Given the description of an element on the screen output the (x, y) to click on. 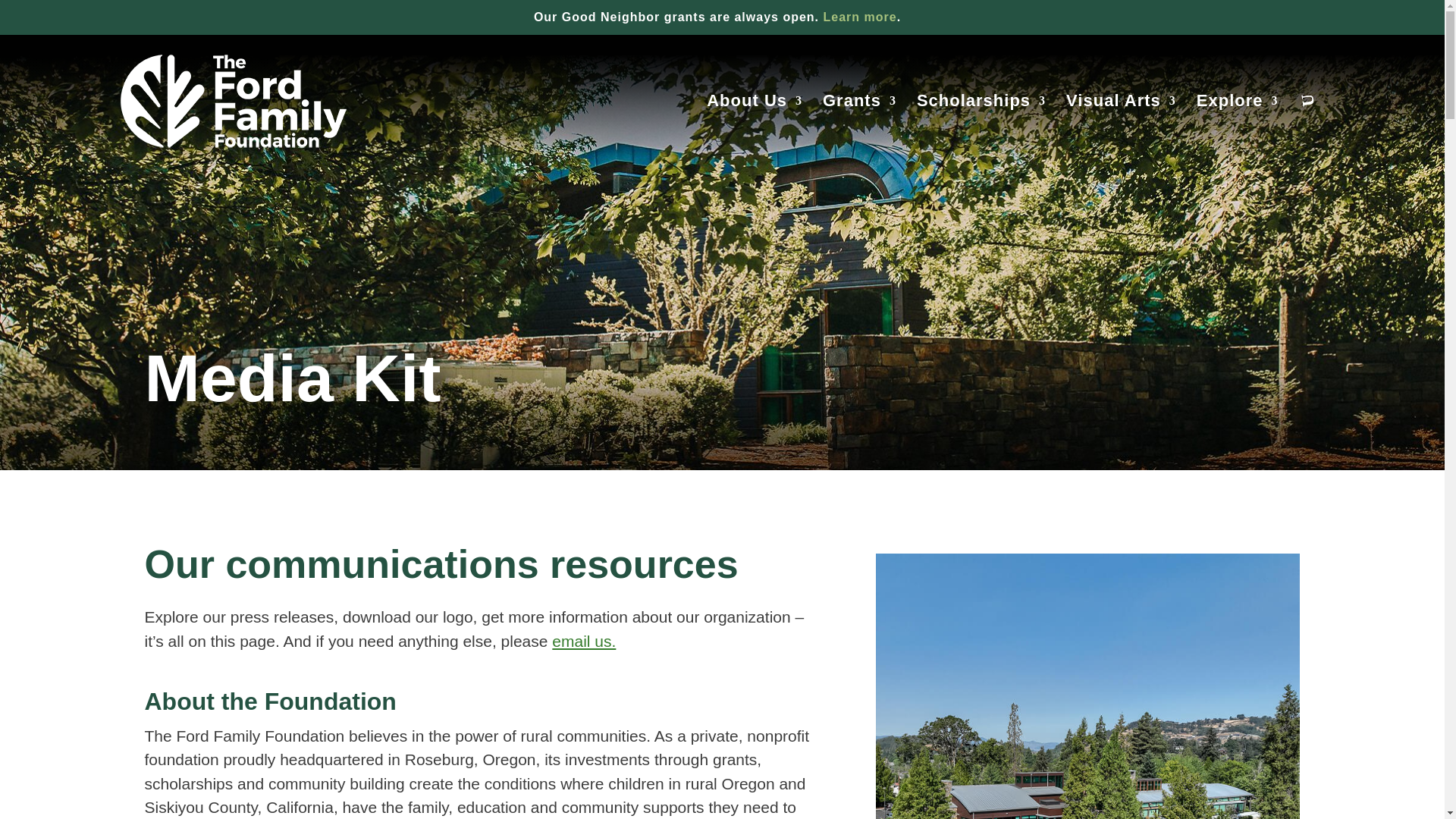
The Ford Family Foundation headquarters in Roseburg, Oregon (1088, 686)
Scholarships (981, 131)
Explore (1237, 131)
Grants (859, 131)
Visual Arts (1120, 131)
About Us (754, 131)
Learn more (860, 16)
